Given the description of an element on the screen output the (x, y) to click on. 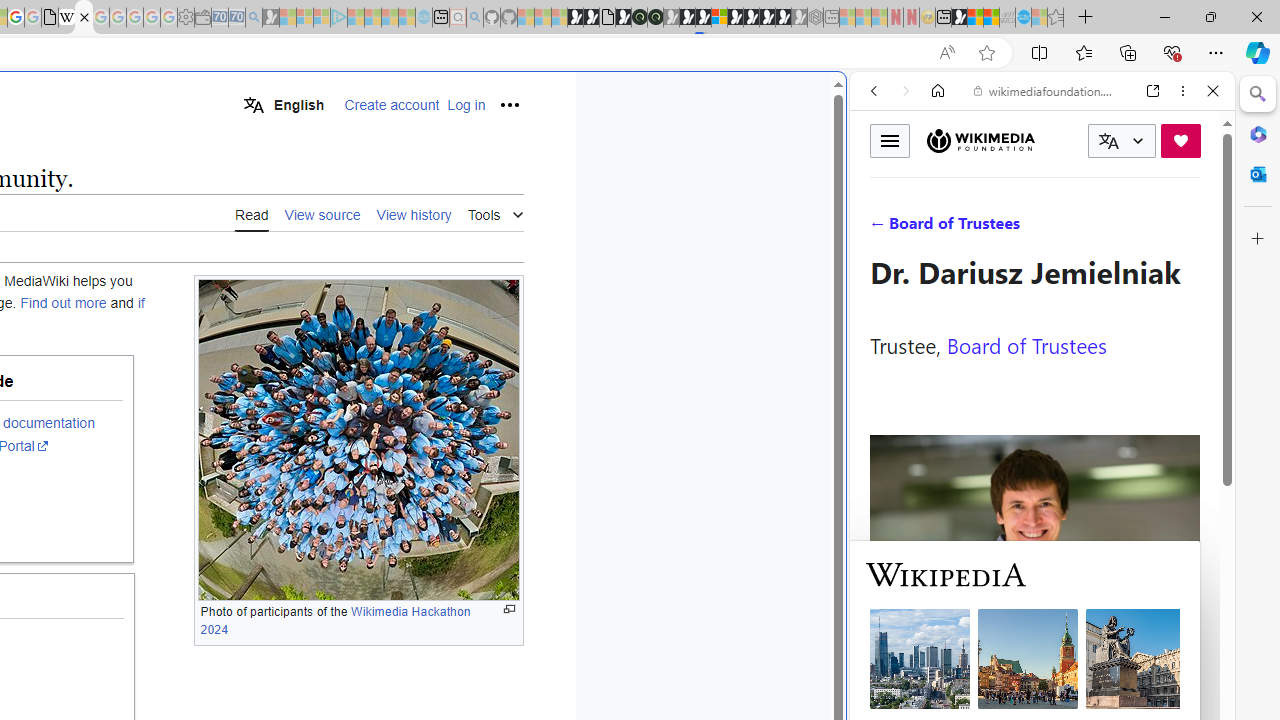
Tools (495, 212)
Wiktionary (1034, 669)
View history (413, 214)
Donate now (1180, 140)
wikimediafoundation.org (1045, 90)
